Given the description of an element on the screen output the (x, y) to click on. 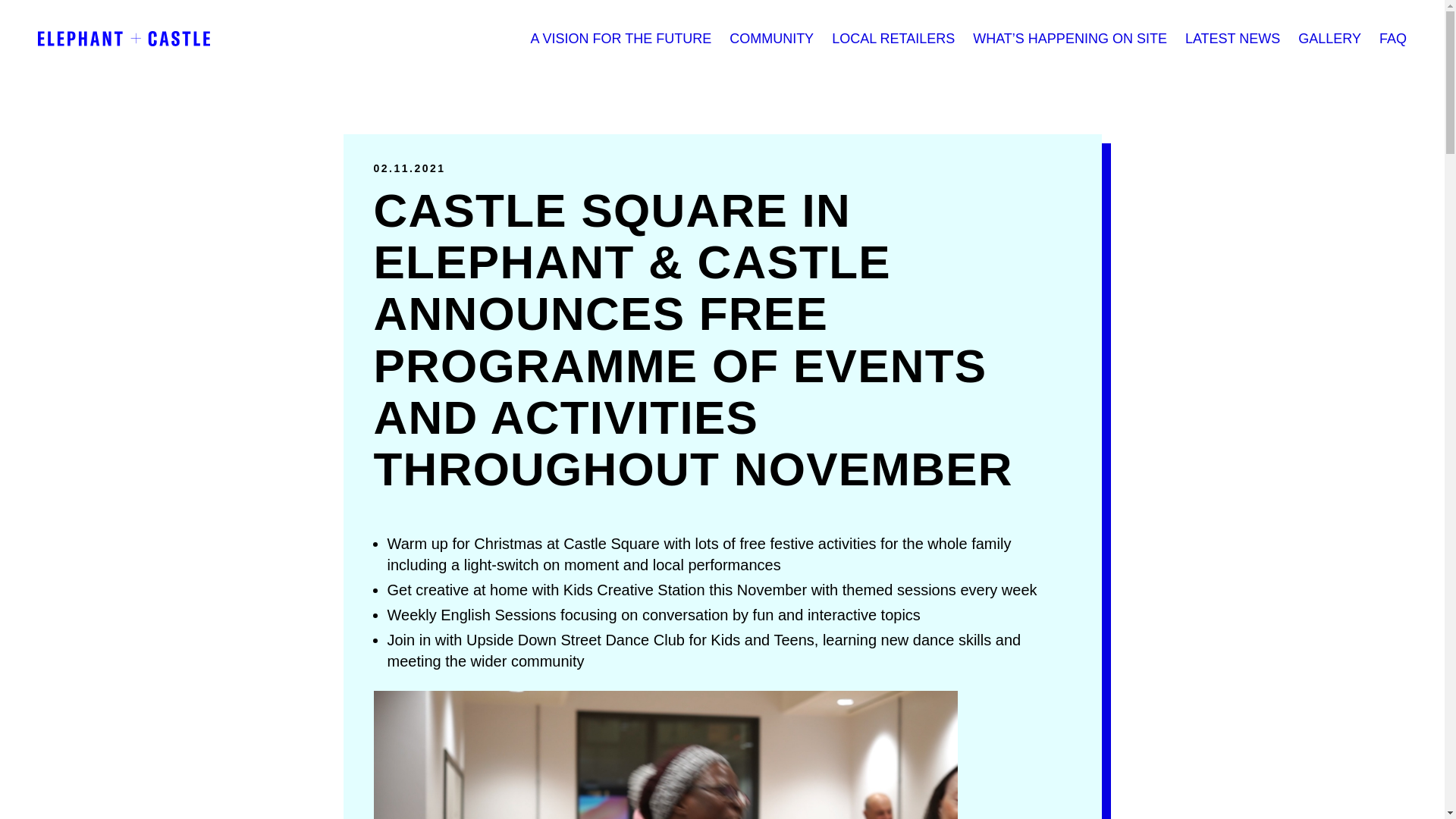
LATEST NEWS (1232, 38)
Back to news (1078, 157)
FAQ (1392, 38)
LOCAL RETAILERS (893, 38)
COMMUNITY (771, 38)
GALLERY (1329, 38)
A VISION FOR THE FUTURE (620, 38)
